Given the description of an element on the screen output the (x, y) to click on. 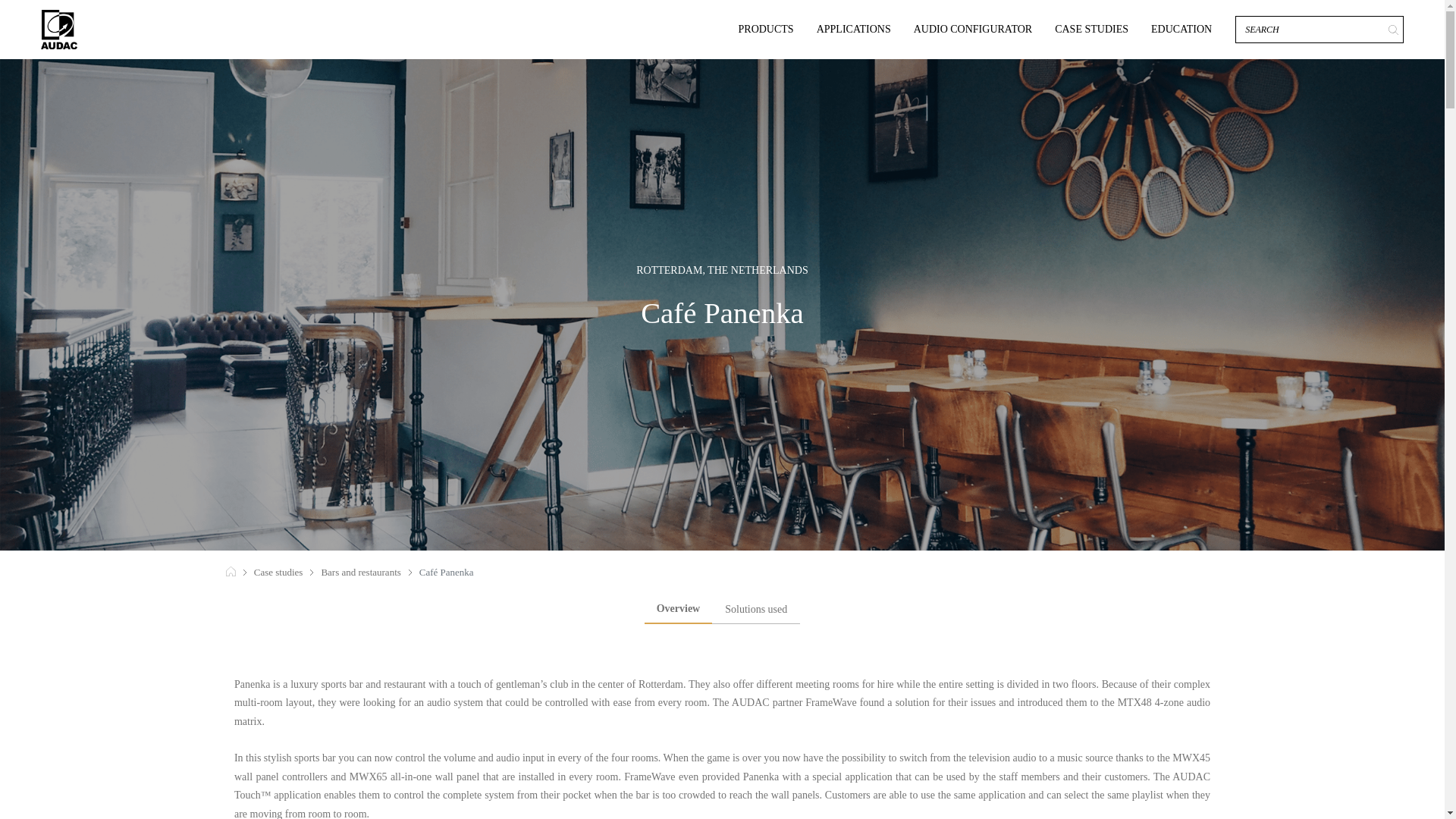
Education platform (1180, 29)
SEARCH (1394, 30)
AUDAC - Inspired by sound (58, 29)
home (230, 571)
Bars and restaurants (360, 572)
Case studies (277, 572)
